Given the description of an element on the screen output the (x, y) to click on. 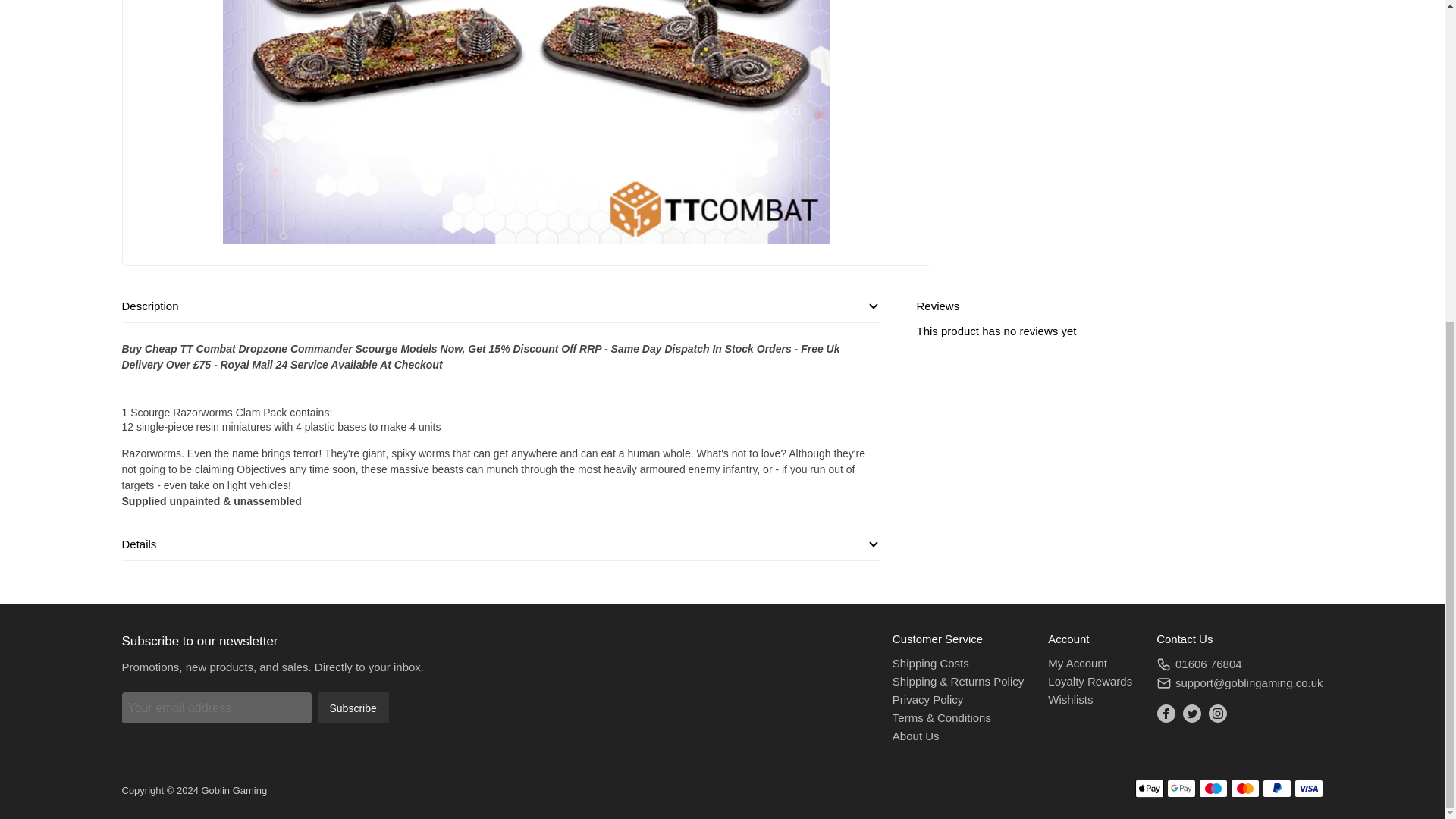
Google Pay (1180, 788)
Apple Pay (1148, 788)
Maestro (1212, 788)
